Given the description of an element on the screen output the (x, y) to click on. 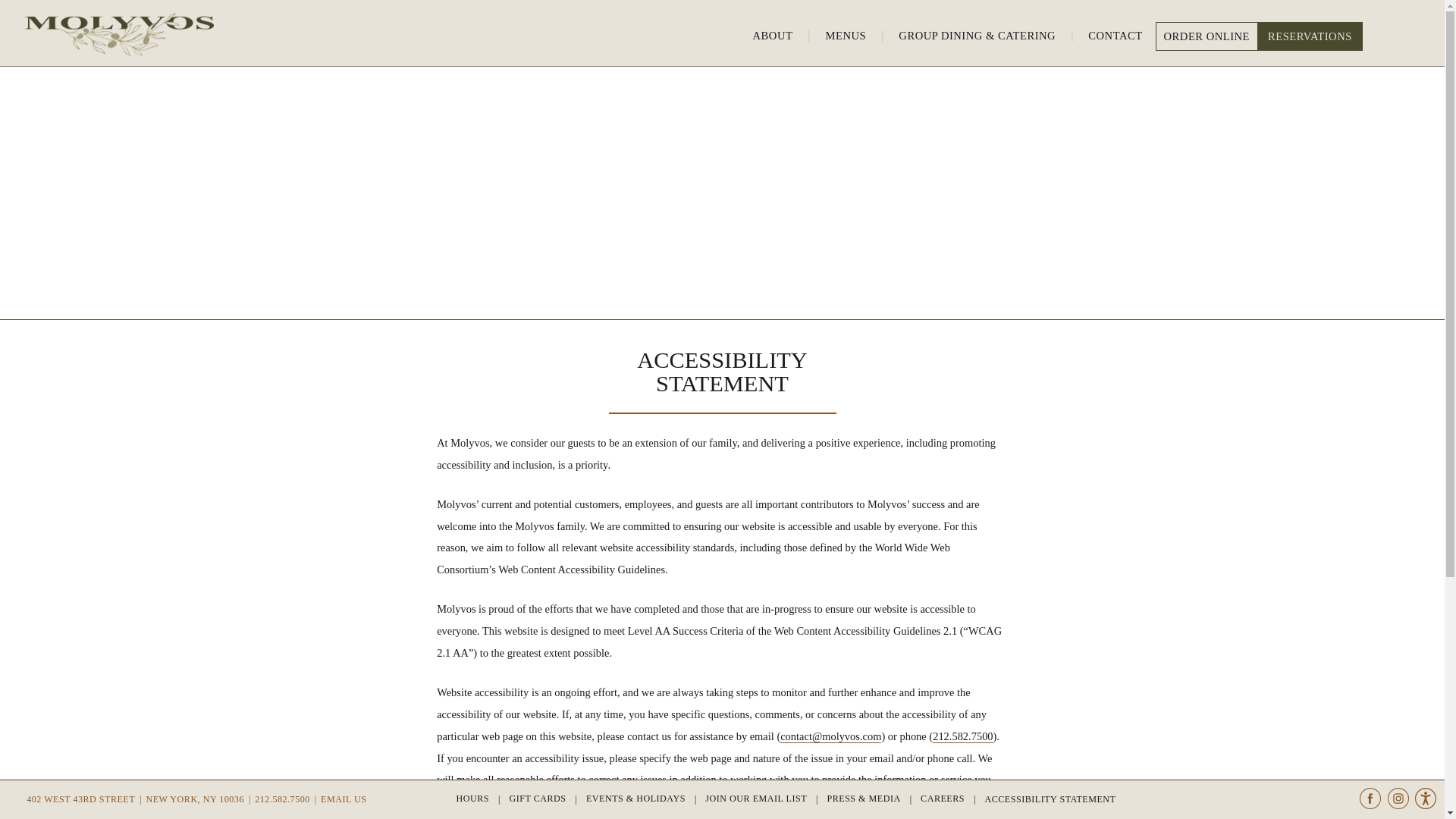
MENUS (845, 35)
JOIN OUR EMAIL LIST (764, 798)
ABOUT (772, 35)
CAREERS (950, 798)
212.582.7500 (285, 799)
ACCESSIBILITY STATEMENT (1049, 798)
CONTACT (1114, 35)
402 WEST 43RD STREET (84, 799)
212.582.7500 (962, 736)
RESERVATIONS (1310, 36)
